Given the description of an element on the screen output the (x, y) to click on. 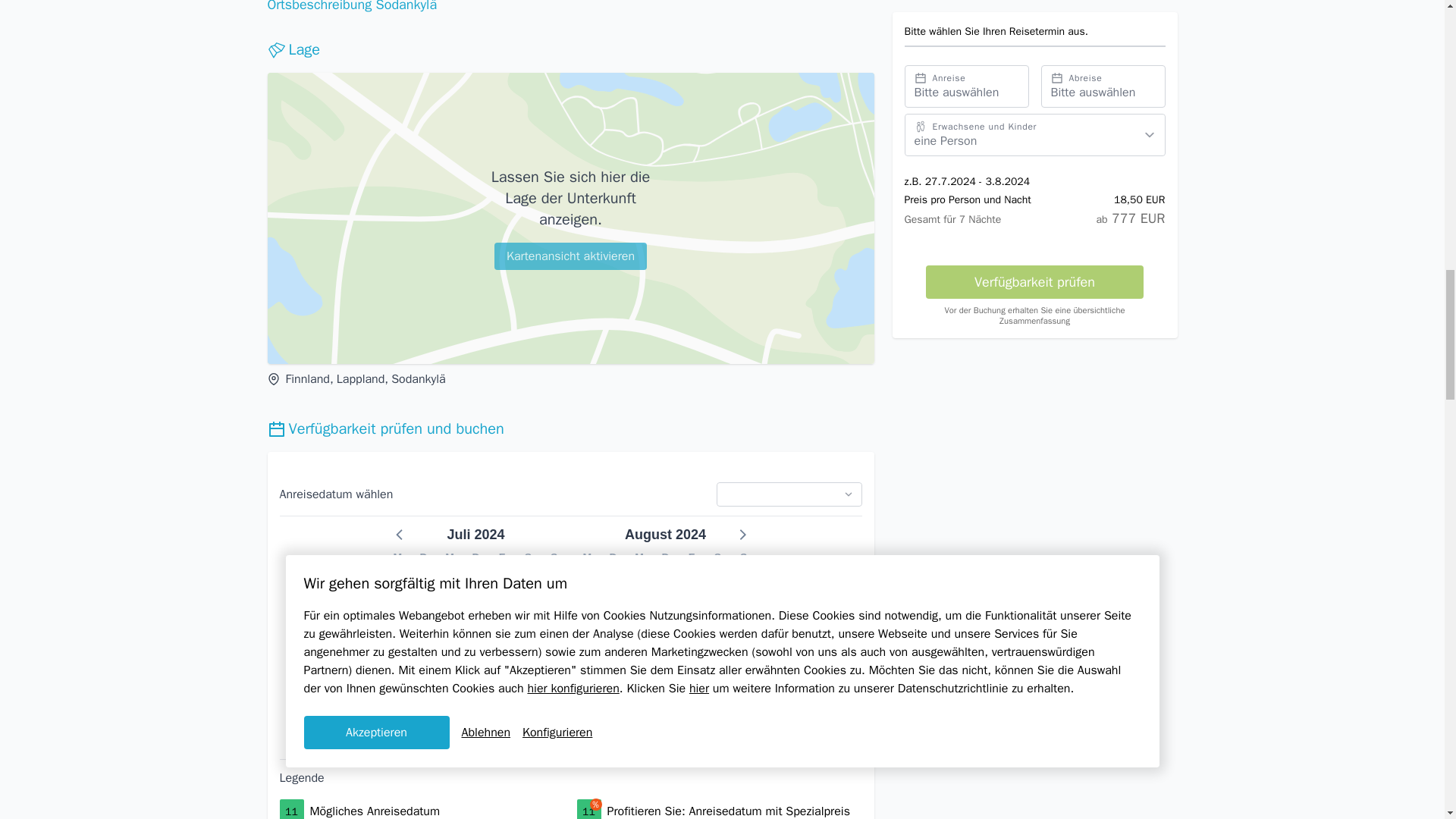
Kartenansicht aktivieren (570, 256)
Finnland (307, 379)
Lappland (360, 379)
